Given the description of an element on the screen output the (x, y) to click on. 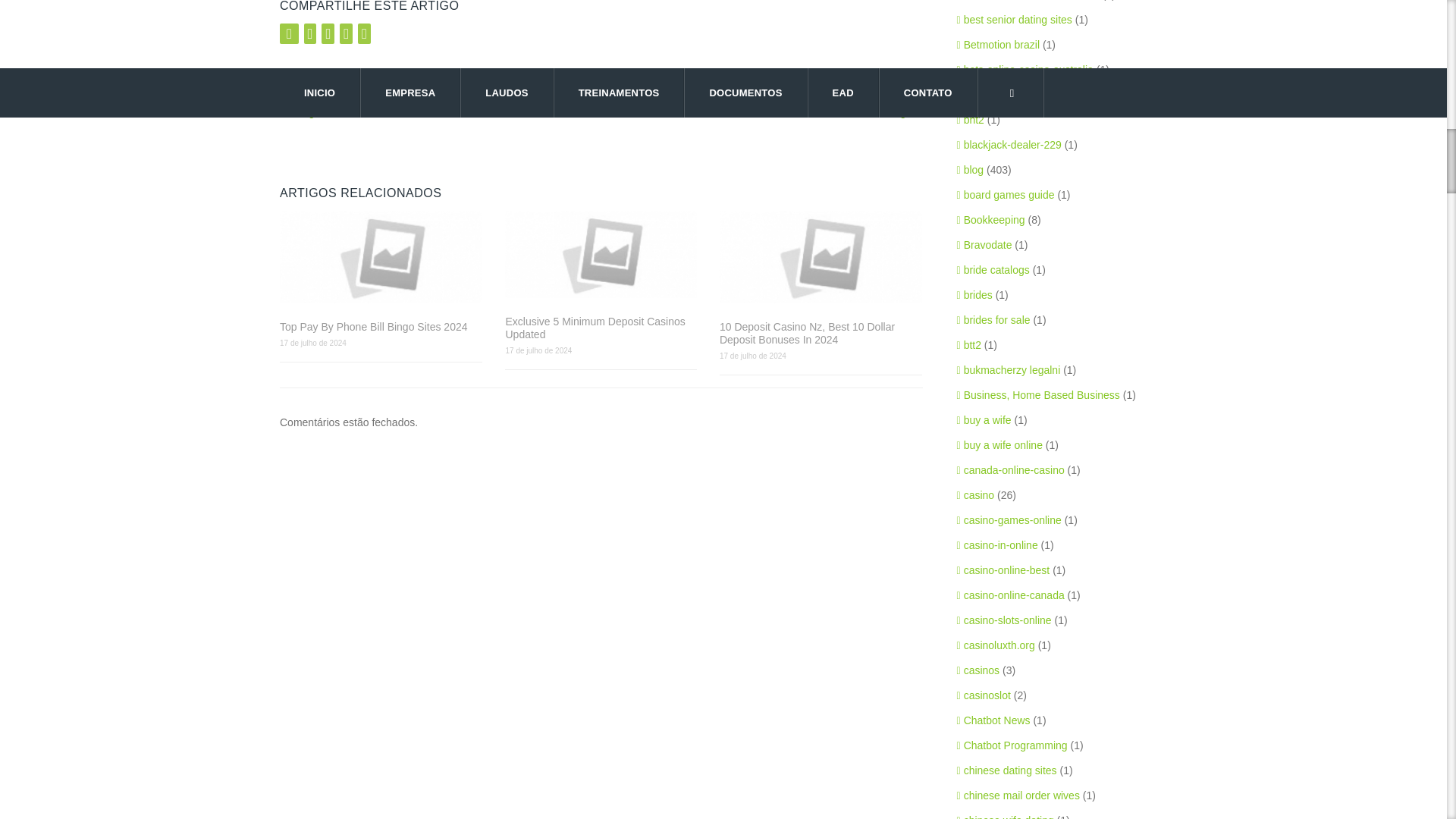
Permalink to Exclusive 5 Minimum Deposit Casinos Updated (600, 328)
Permalink to Top Pay By Phone Bill Bingo Sites 2024 (380, 327)
Permalink to Top Pay By Phone Bill Bingo Sites 2024 (380, 256)
Permalink to Exclusive 5 Minimum Deposit Casinos Updated (600, 254)
Business, Home Based Business (1037, 395)
